Given the description of an element on the screen output the (x, y) to click on. 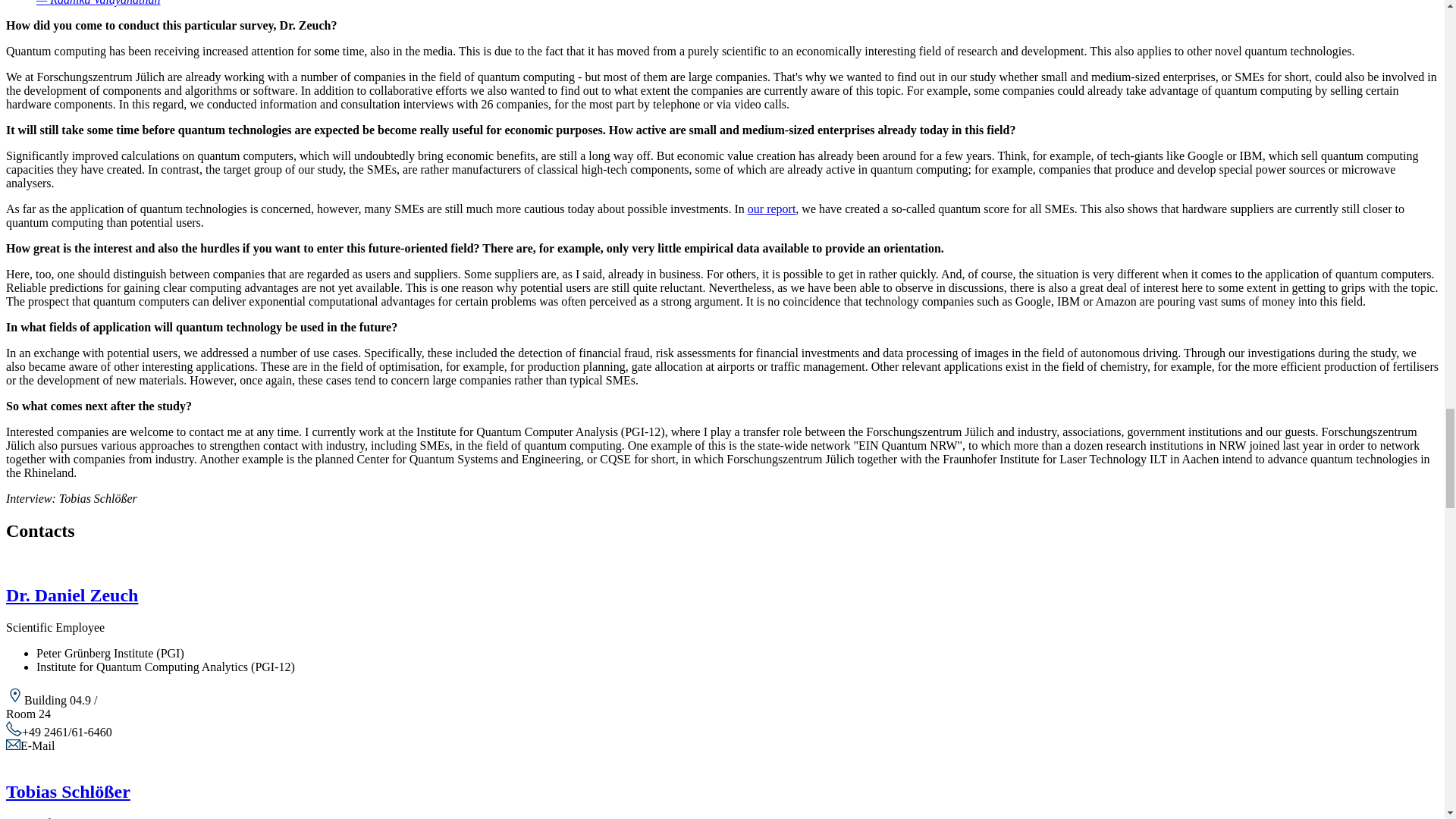
Open a Mailto Link to the Members Email Address (37, 745)
